Given the description of an element on the screen output the (x, y) to click on. 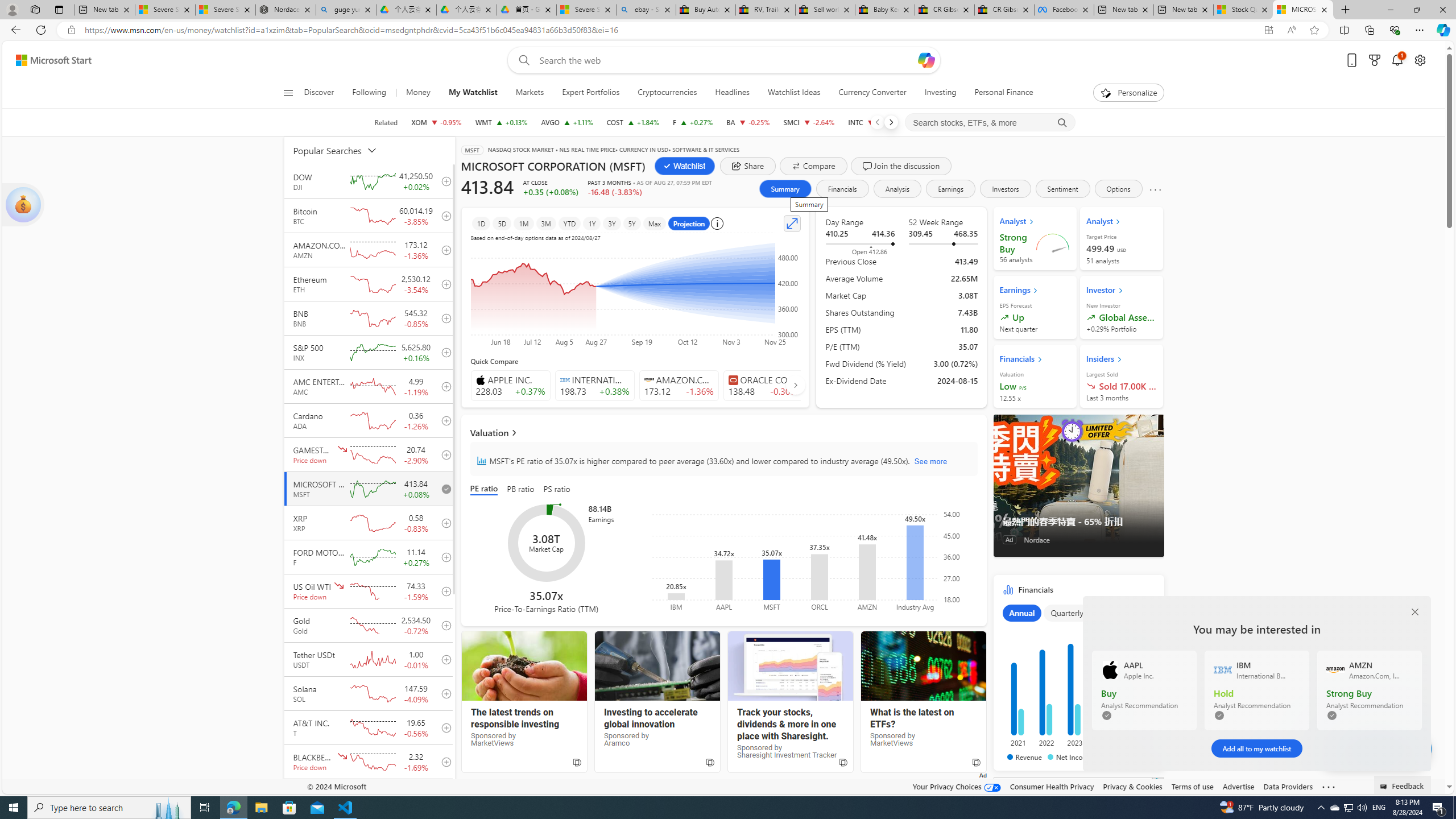
show card (22, 204)
Markets (529, 92)
Data Providers (1288, 786)
Following (368, 92)
PE ratio (486, 489)
Analysis (897, 188)
Class: chartOuter-DS-EntryPoint1-1 (1075, 682)
Headlines (732, 92)
Privacy & Cookies (1131, 786)
Watchlist Ideas (793, 92)
Ad (1008, 539)
Aramco (657, 666)
RV, Trailer & Camper Steps & Ladders for sale | eBay (765, 9)
